Given the description of an element on the screen output the (x, y) to click on. 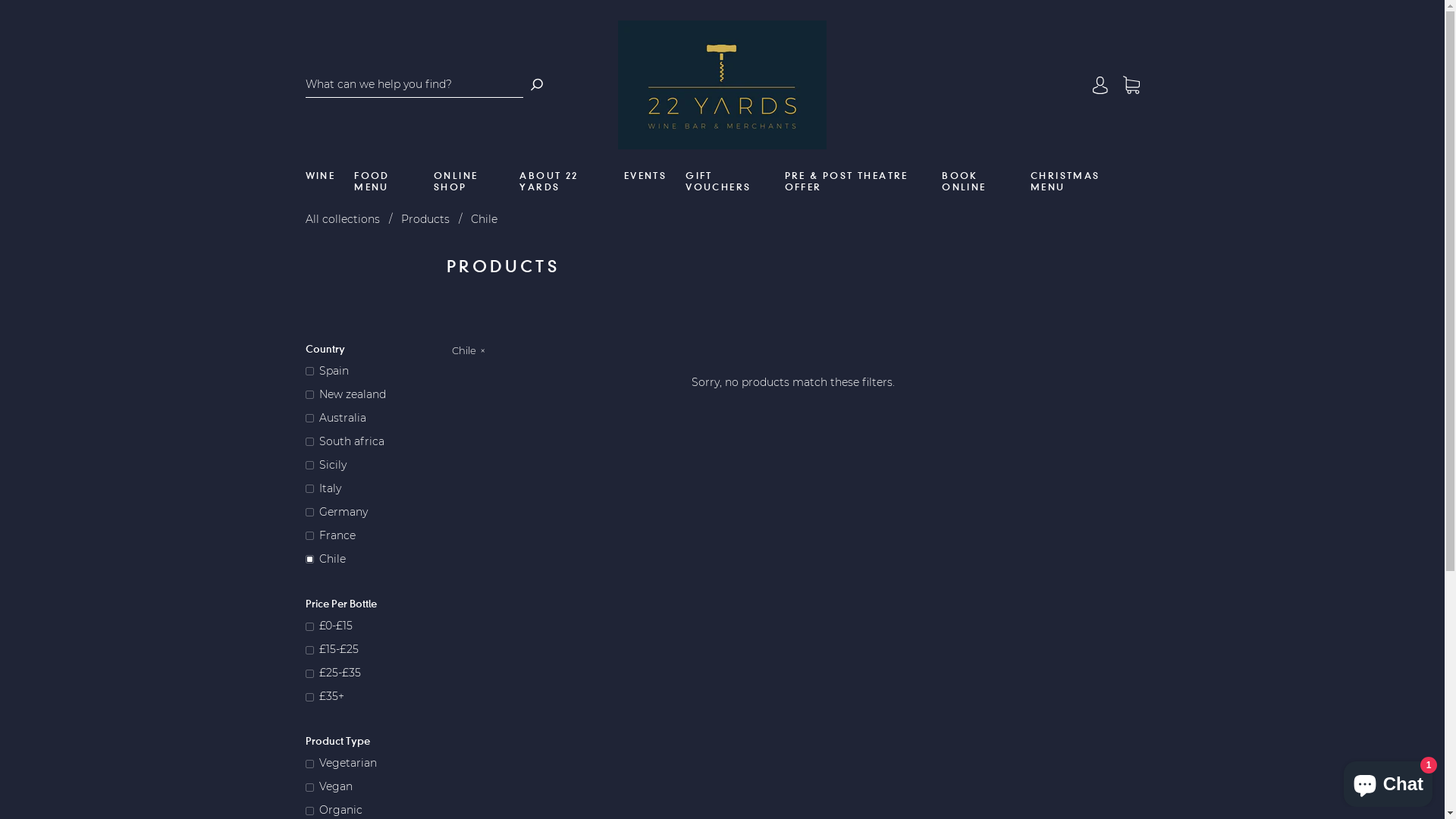
France Element type: text (367, 535)
South africa Element type: text (367, 441)
Sicily Element type: text (367, 465)
Vegan Element type: text (367, 786)
PRE & POST THEATRE OFFER Element type: text (853, 180)
ABOUT 22 YARDS Element type: text (561, 180)
Chile Element type: text (367, 559)
Remove tag Chile Element type: hover (468, 351)
BOOK ONLINE Element type: text (976, 180)
WINE Element type: text (319, 175)
Product Type Element type: text (367, 740)
CHRISTMAS MENU Element type: text (1075, 180)
FOOD MENU Element type: text (384, 180)
GIFT VOUCHERS Element type: text (725, 180)
ONLINE SHOP Element type: text (466, 180)
Australia Element type: text (367, 418)
Germany Element type: text (367, 512)
Spain Element type: text (367, 371)
Italy Element type: text (367, 488)
All collections Element type: text (341, 218)
Organic Element type: text (367, 810)
Shopify online store chat Element type: hover (1388, 780)
New zealand Element type: text (367, 394)
Country Element type: text (367, 348)
Products Element type: text (424, 218)
Price Per Bottle Element type: text (367, 603)
EVENTS Element type: text (645, 175)
Vegetarian Element type: text (367, 763)
